Given the description of an element on the screen output the (x, y) to click on. 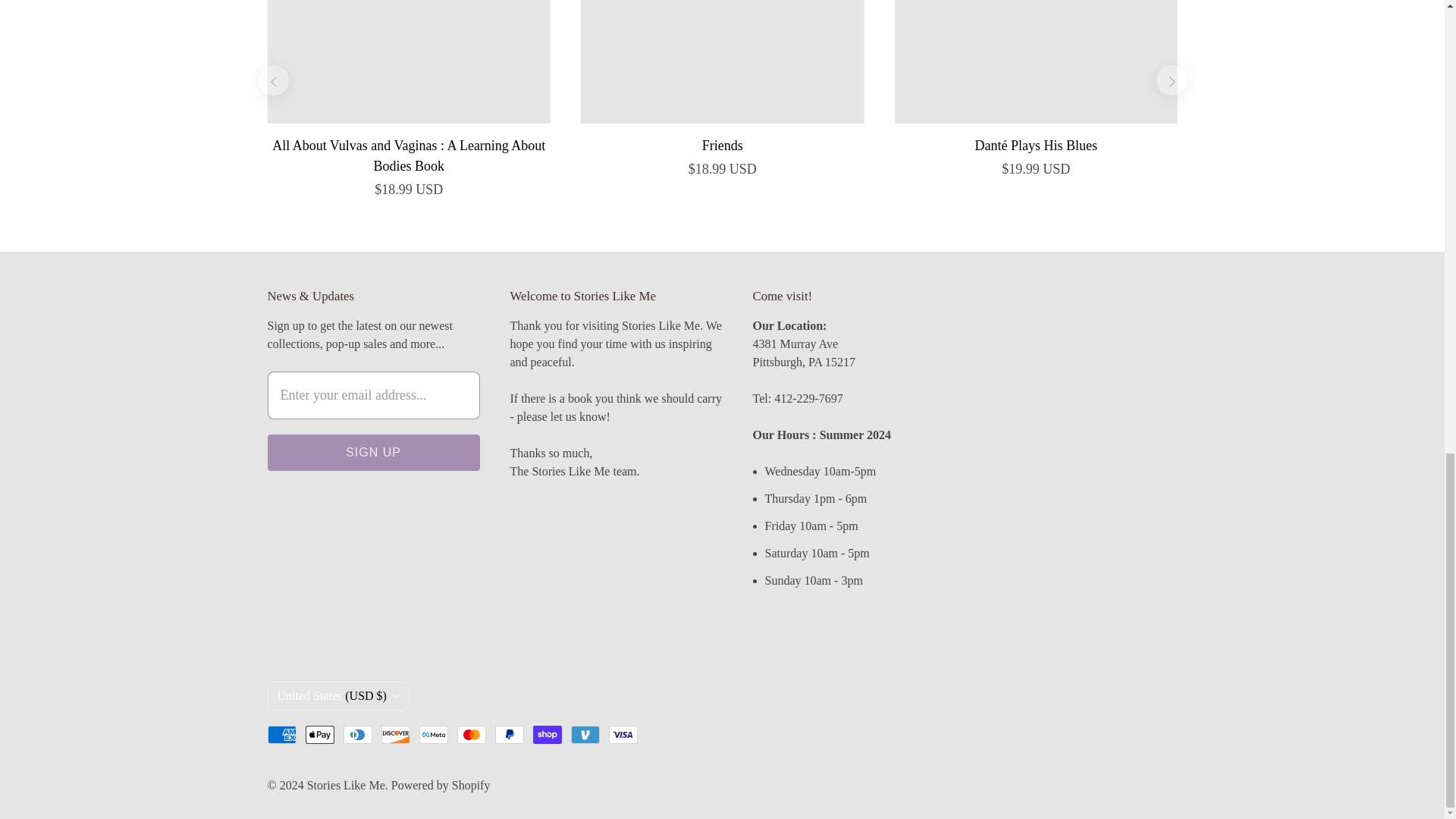
Venmo (584, 734)
Sign Up (372, 452)
Shop Pay (546, 734)
PayPal (508, 734)
Meta Pay (432, 734)
Discover (394, 734)
Diners Club (356, 734)
Mastercard (470, 734)
American Express (280, 734)
Visa (622, 734)
